Given the description of an element on the screen output the (x, y) to click on. 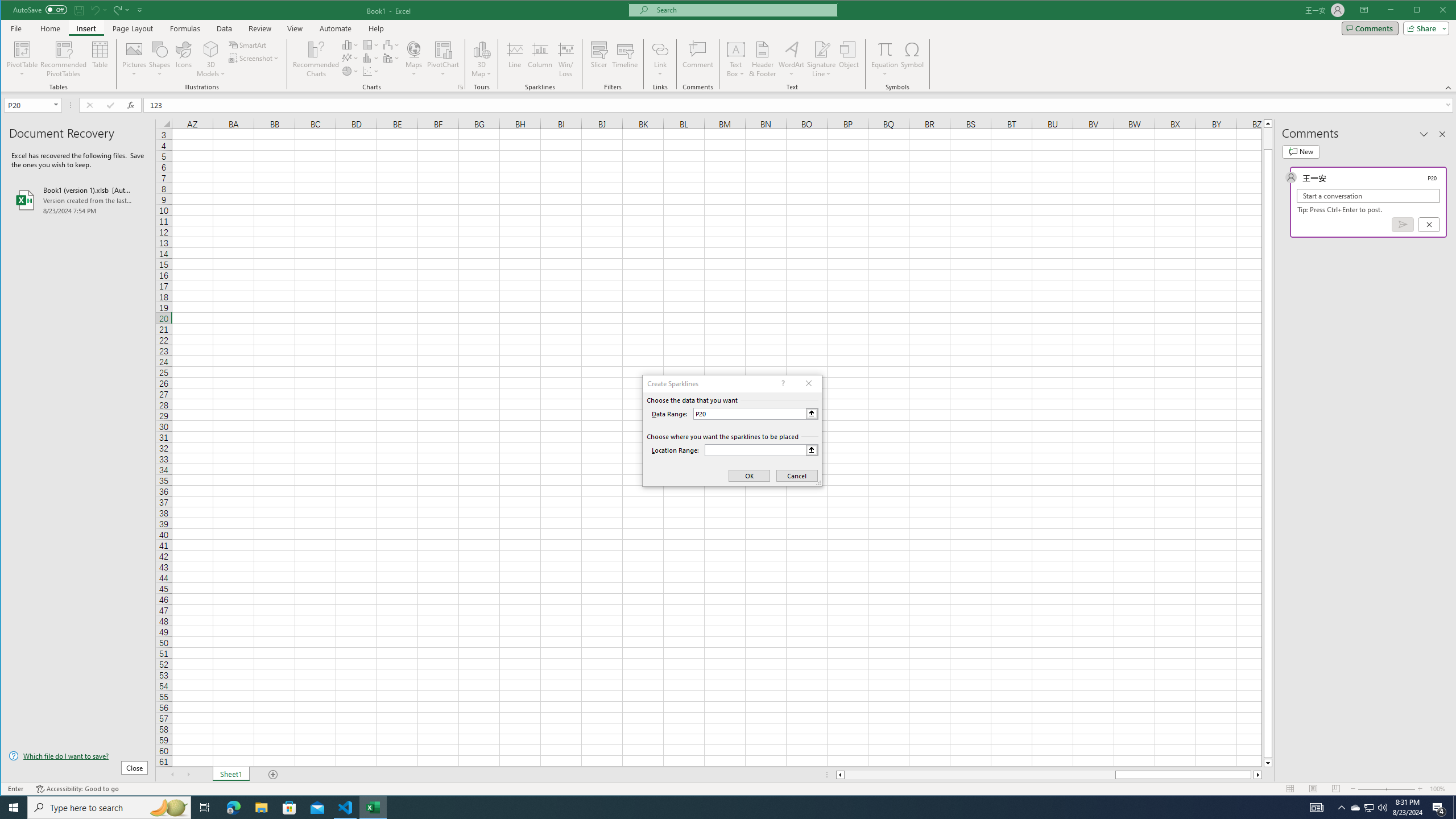
Shapes (159, 59)
Line (514, 59)
Comment (697, 59)
SmartArt... (248, 44)
